Given the description of an element on the screen output the (x, y) to click on. 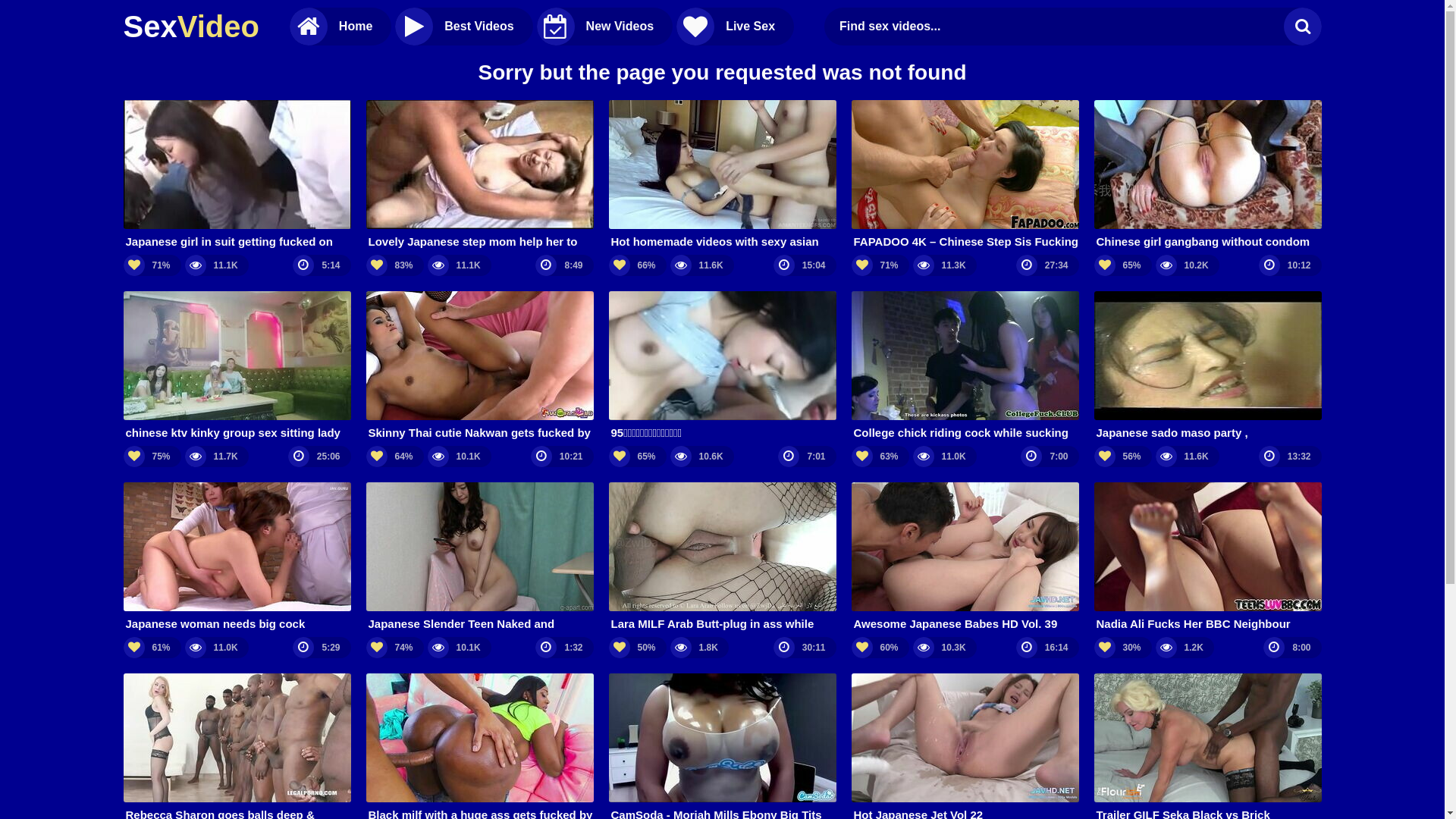
Hot homemade videos with sexy asian girls Element type: text (721, 174)
Search Element type: hover (1302, 26)
SexVideo Element type: text (190, 26)
Lovely Japanese step mom help her to be content (part 3/3) Element type: text (479, 174)
chinese ktv kinky group sex sitting lady 4p Element type: text (236, 365)
Home Element type: text (340, 26)
Japanese sado maso party , wax,spanking,enema Element type: text (1207, 365)
Best Videos Element type: text (463, 26)
Japanese Slender Teen Naked and Beautiful Big Tits Element type: text (479, 556)
College chick riding cock while sucking Element type: text (964, 365)
Lara MILF Arab Butt-plug in ass while fucking with Aboud Element type: text (721, 556)
Japanese woman needs big cock Element type: text (236, 556)
Live Sex Element type: text (734, 26)
New Videos Element type: text (604, 26)
Awesome Japanese Babes HD Vol. 39 Element type: text (964, 556)
Chinese girl gangbang without condom Element type: text (1207, 174)
Nadia Ali Fucks Her BBC Neighbour Element type: text (1207, 556)
Skinny Thai cutie Nakwan gets fucked by a tourist Element type: text (479, 365)
Japanese girl in suit getting fucked on the bus Element type: text (236, 174)
